Given the description of an element on the screen output the (x, y) to click on. 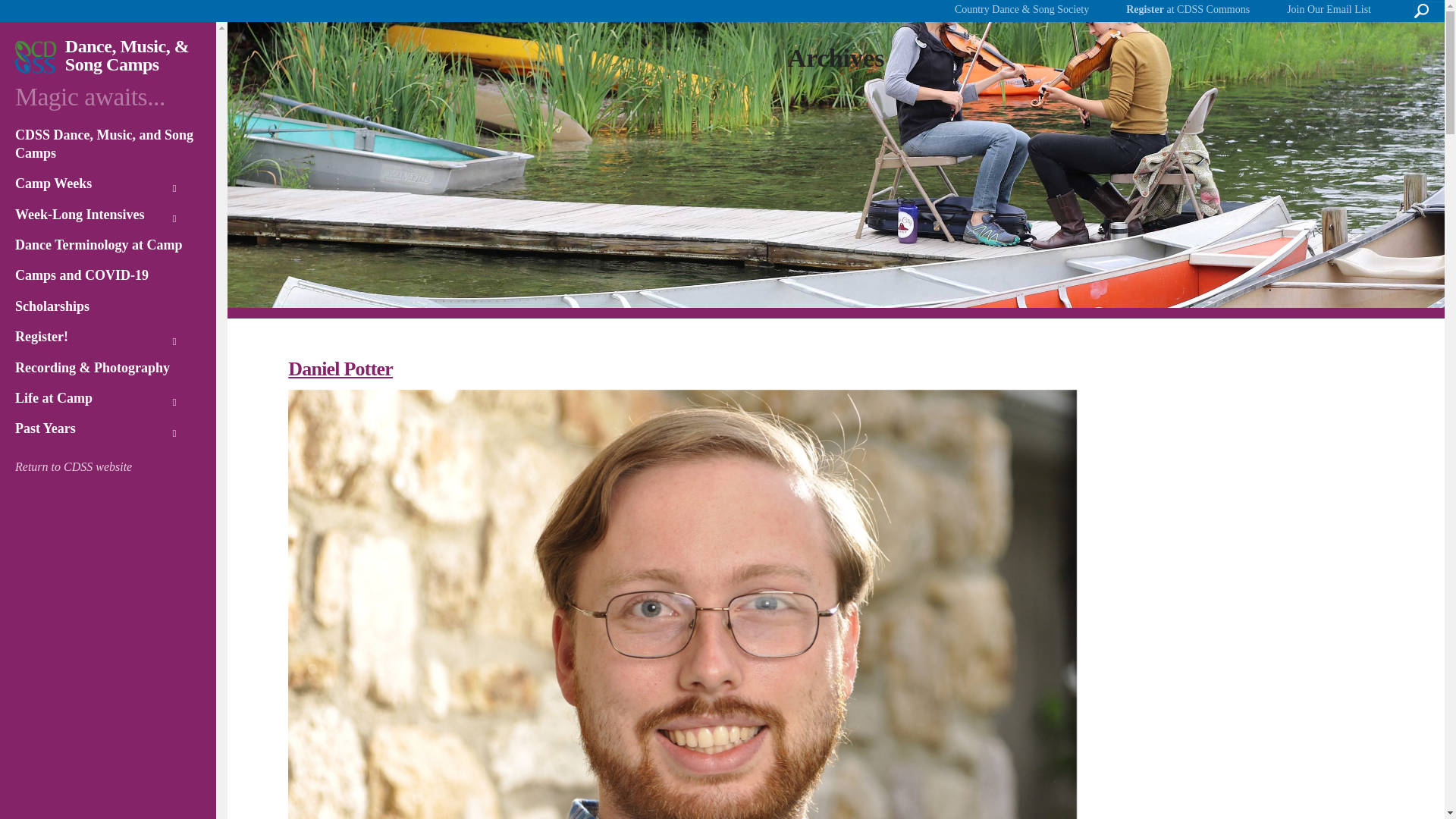
Register at CDSS Commons (1188, 10)
Register! (107, 340)
Week-Long Intensives (107, 218)
CDSS Dance, Music, and Song Camps (107, 147)
Camps and COVID-19 (107, 278)
Dance Terminology at Camp (107, 248)
Scholarships (107, 310)
Life at Camp (107, 401)
Join Our Email List (1328, 10)
Camp Weeks (107, 187)
Search (37, 15)
